Given the description of an element on the screen output the (x, y) to click on. 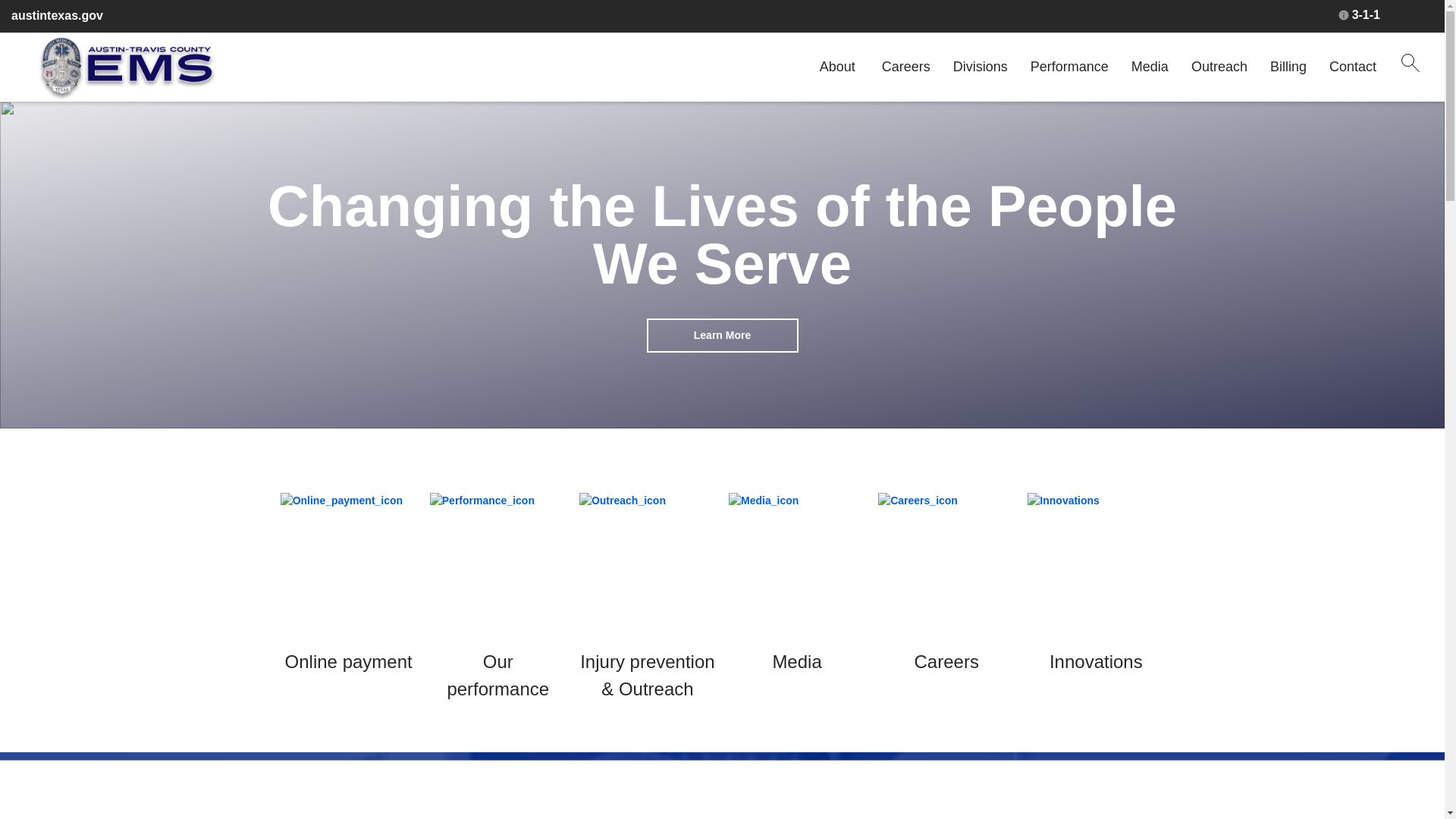
Billing (1287, 66)
About (837, 66)
Home (126, 68)
Performance (1069, 66)
Media (1150, 66)
Divisions (980, 66)
Media (796, 661)
Careers (906, 66)
Contact (1352, 66)
3-1-1 (1359, 15)
Innovations (1095, 661)
SEARCH (1409, 62)
Our performance (497, 675)
austintexas.gov (57, 15)
Careers (946, 661)
